Given the description of an element on the screen output the (x, y) to click on. 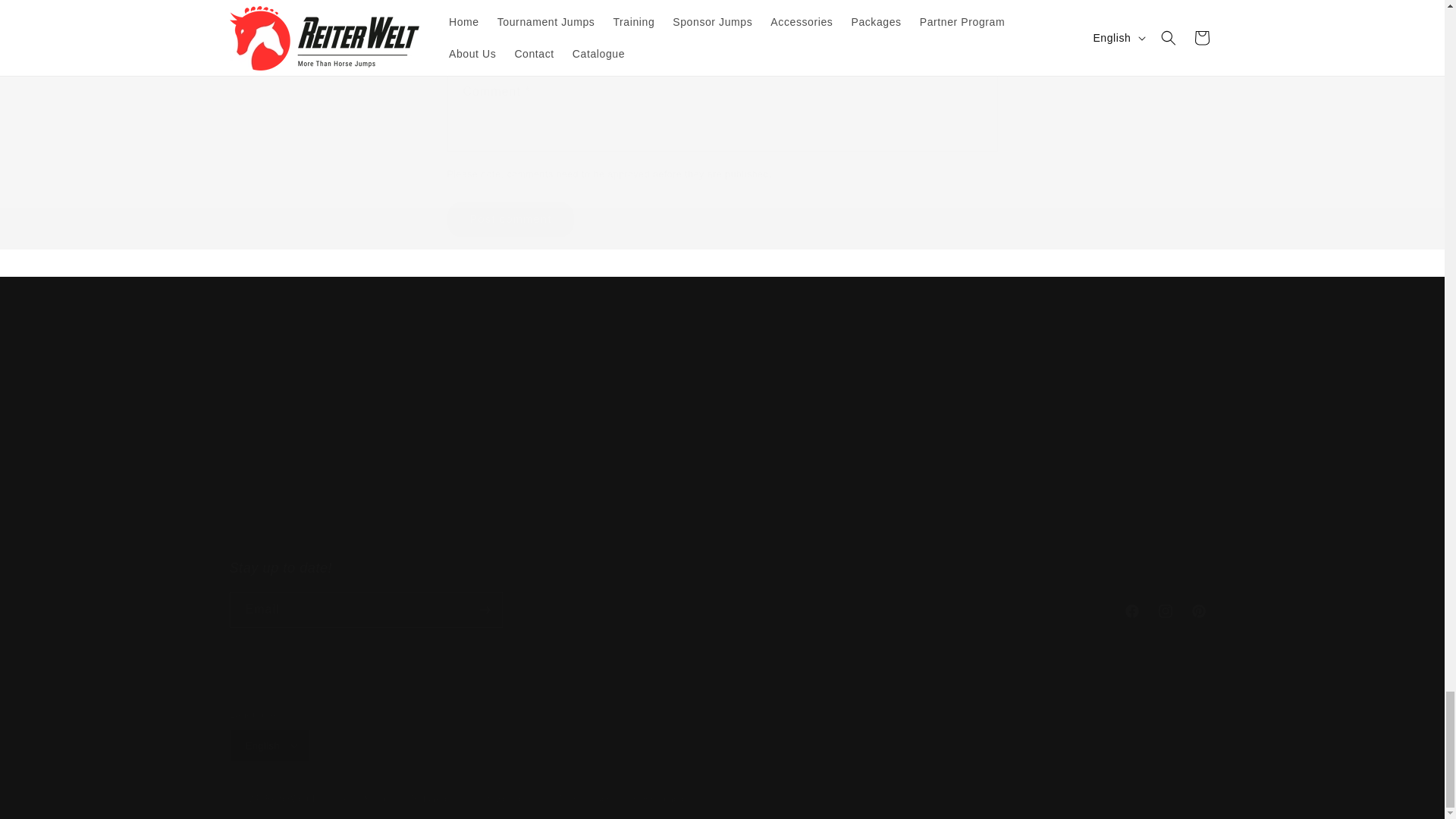
Post comment (721, 593)
